Given the description of an element on the screen output the (x, y) to click on. 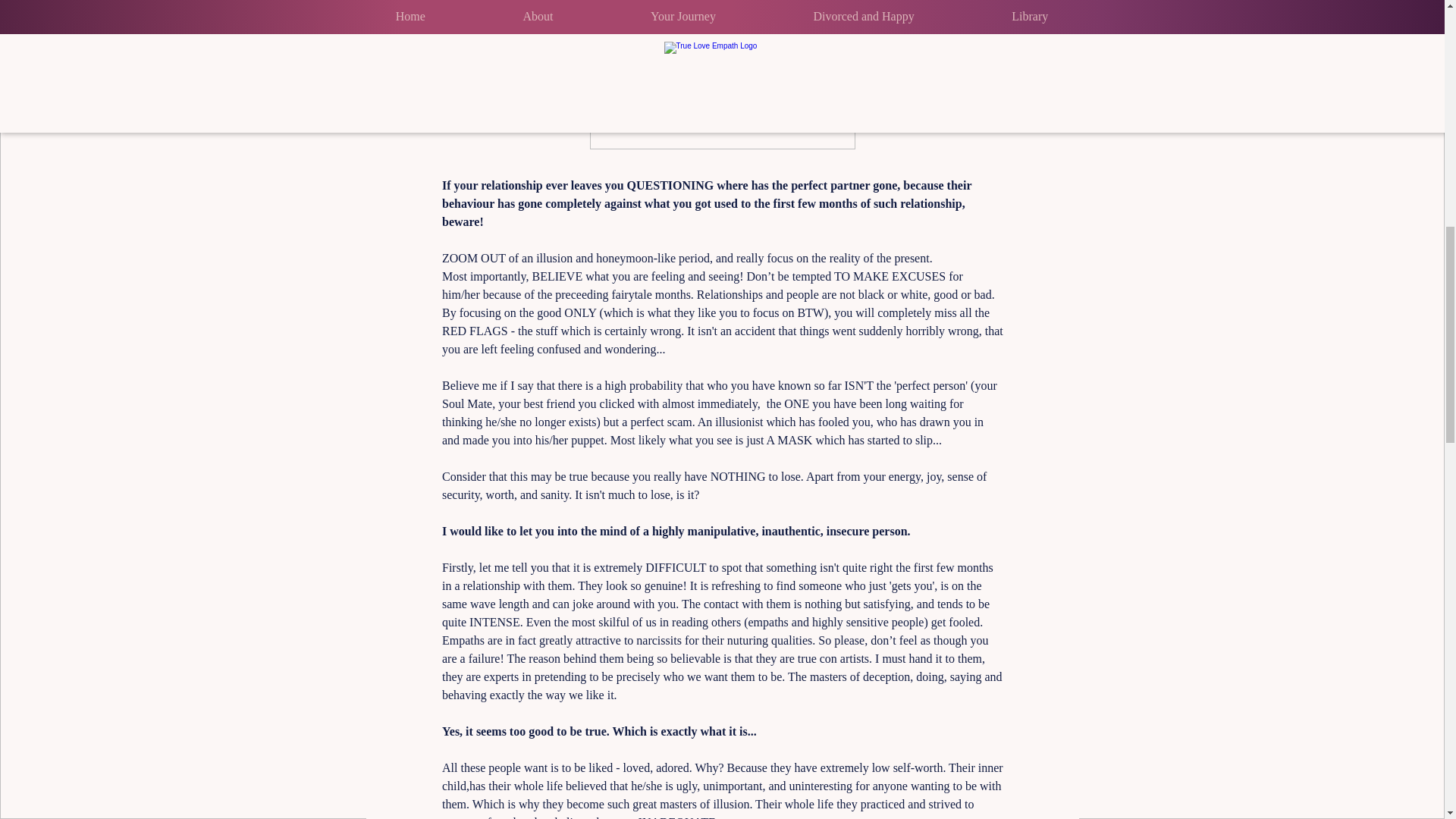
 nuturing qualities (766, 640)
MASK (794, 440)
perfect partner (829, 185)
